Given the description of an element on the screen output the (x, y) to click on. 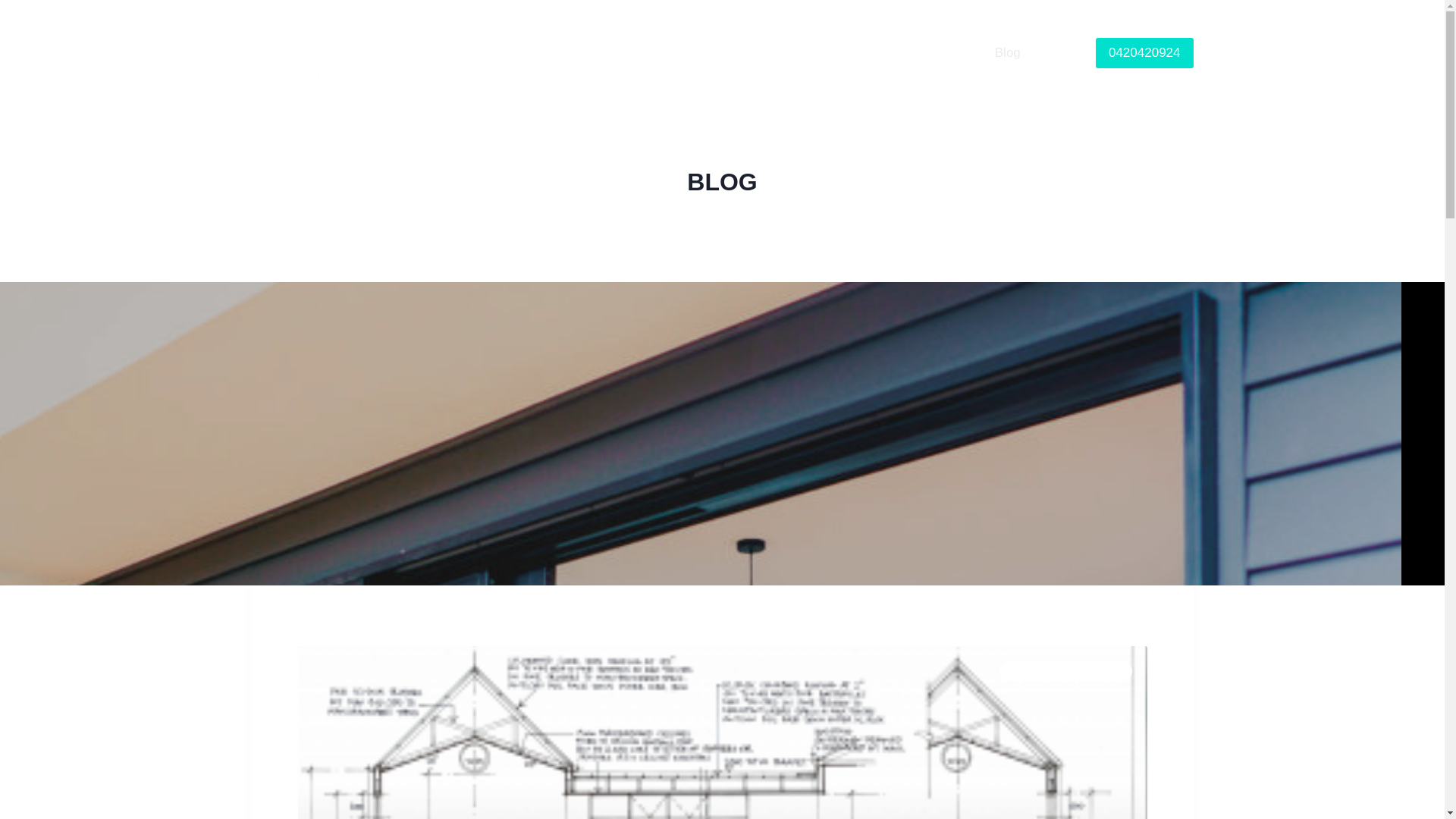
Decking Element type: text (956, 52)
0420420924 Element type: text (1144, 53)
Blog Element type: text (1007, 52)
Extensions Element type: text (820, 52)
Custom Homes Element type: text (729, 52)
Kitchens Element type: text (892, 52)
Contact Element type: text (1058, 52)
